Given the description of an element on the screen output the (x, y) to click on. 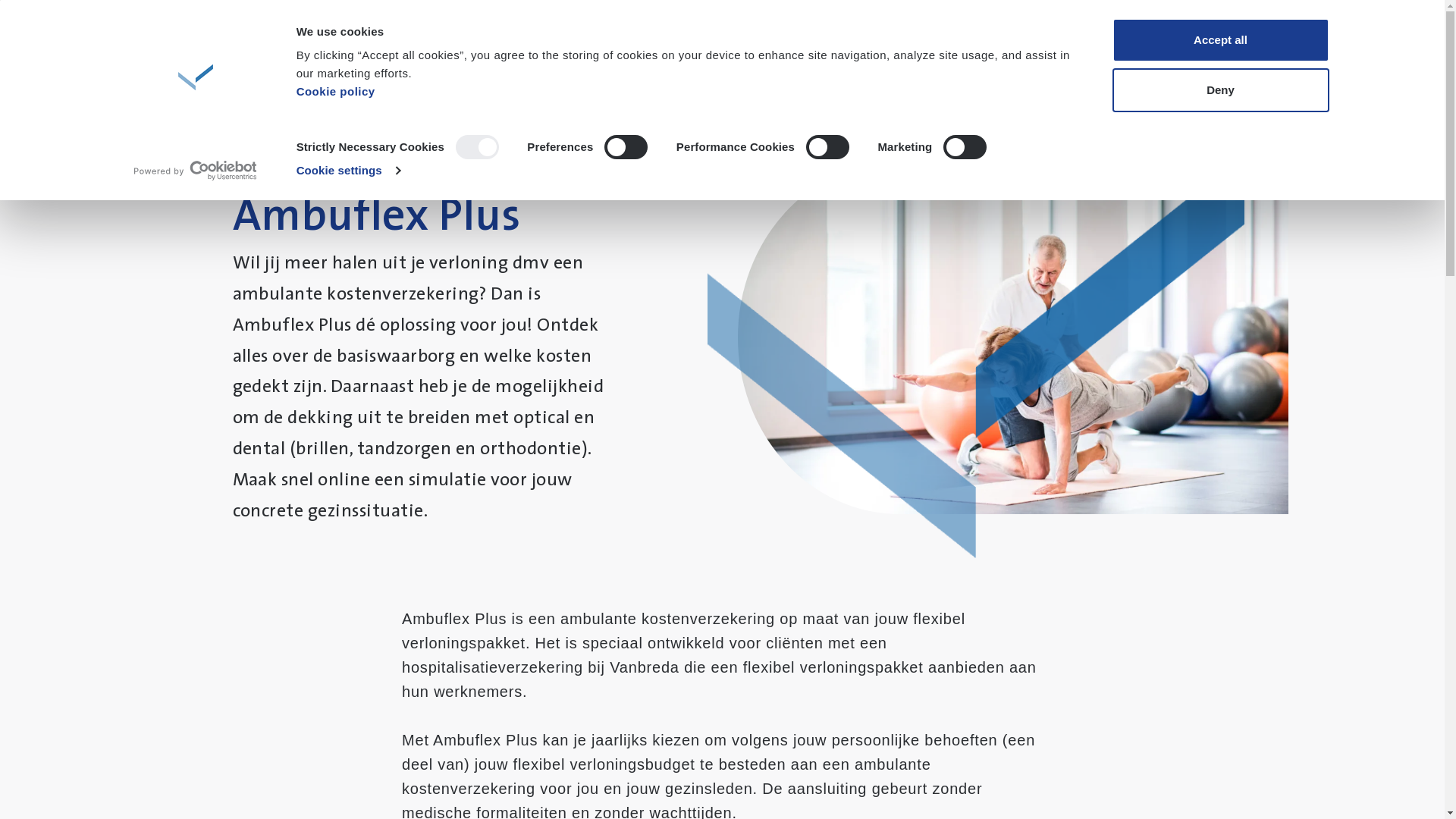
Contact Element type: text (1207, 61)
Accept all Element type: text (1219, 40)
Ik ben klant Element type: text (1121, 61)
Cookie settings Element type: text (348, 170)
Zoeken Element type: text (1028, 62)
Inzichten Element type: text (331, 63)
Deny Element type: text (1219, 90)
Over ons Element type: text (525, 63)
Werken bij Vanbreda Element type: text (648, 63)
NL Element type: text (1267, 63)
Cookie policy Element type: text (335, 90)
Oplossingen Element type: text (425, 63)
